Given the description of an element on the screen output the (x, y) to click on. 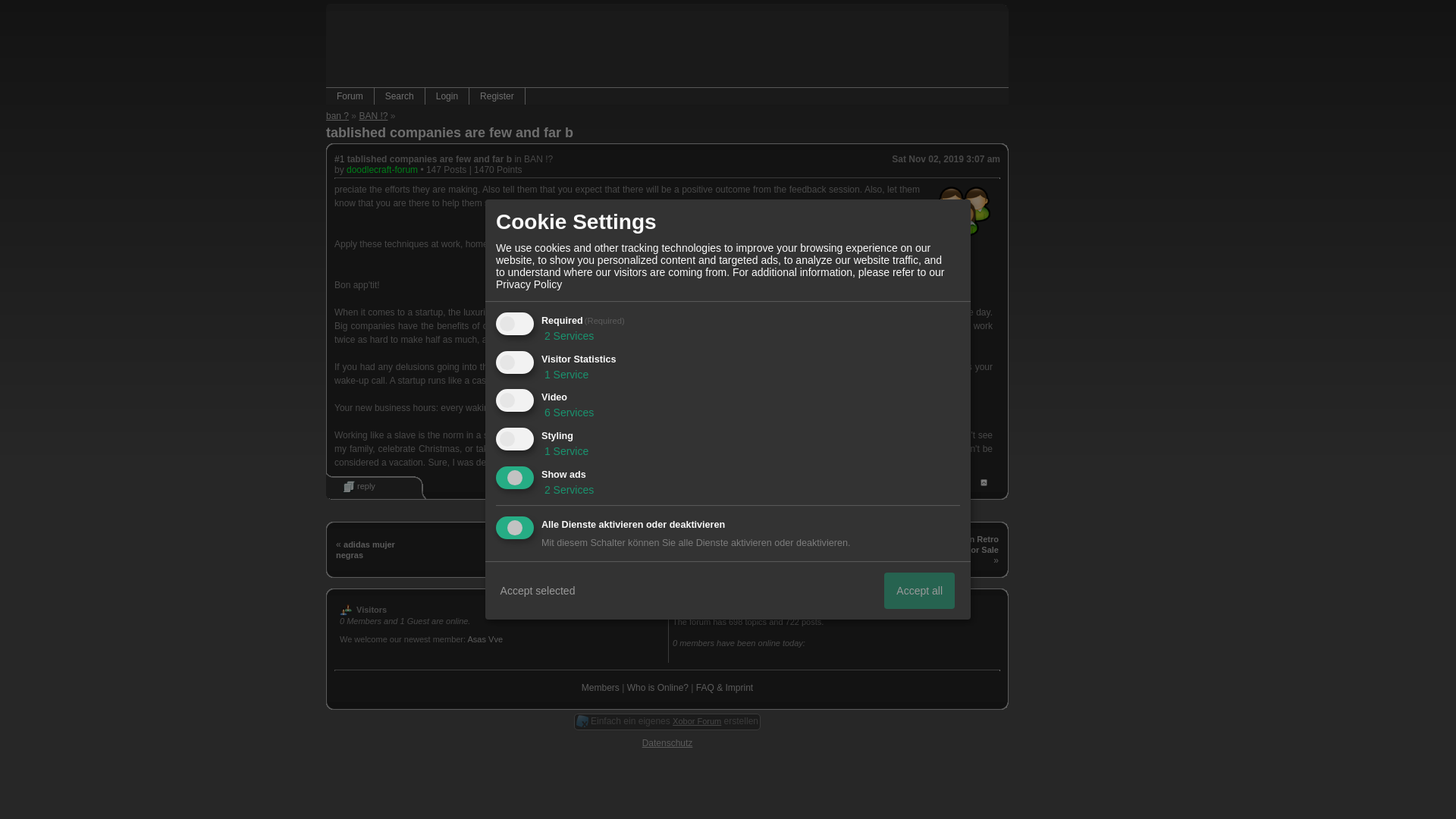
Search (399, 95)
Forum (350, 95)
1 Service (564, 374)
Jordan Retro Shoes For Sale (968, 549)
ban ? (337, 115)
Register (496, 95)
1 Service (564, 451)
Air Max 95 Goedkoop (790, 326)
Login (446, 95)
Who is Online? (657, 687)
